Given the description of an element on the screen output the (x, y) to click on. 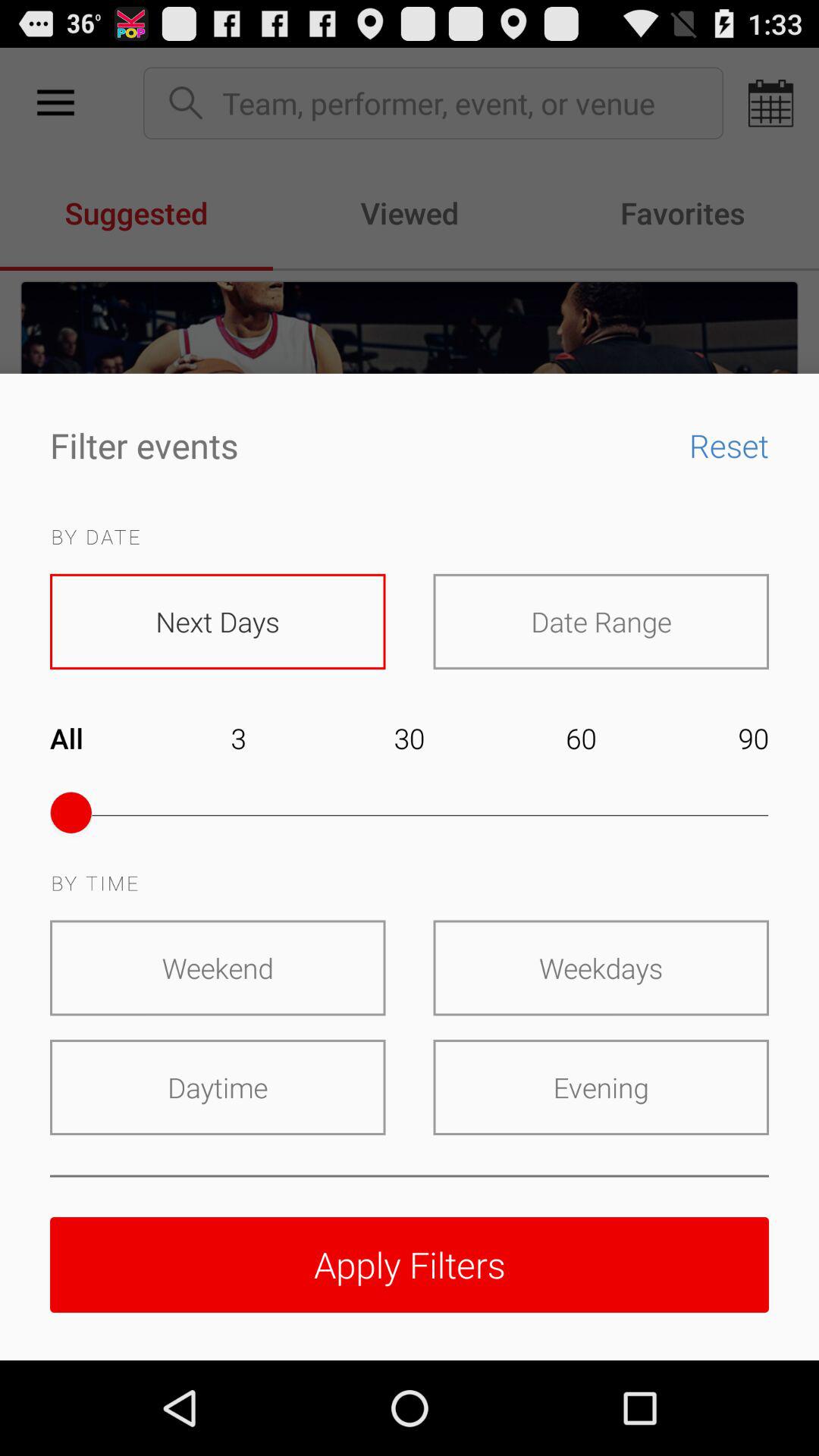
launch the daytime (217, 1087)
